Given the description of an element on the screen output the (x, y) to click on. 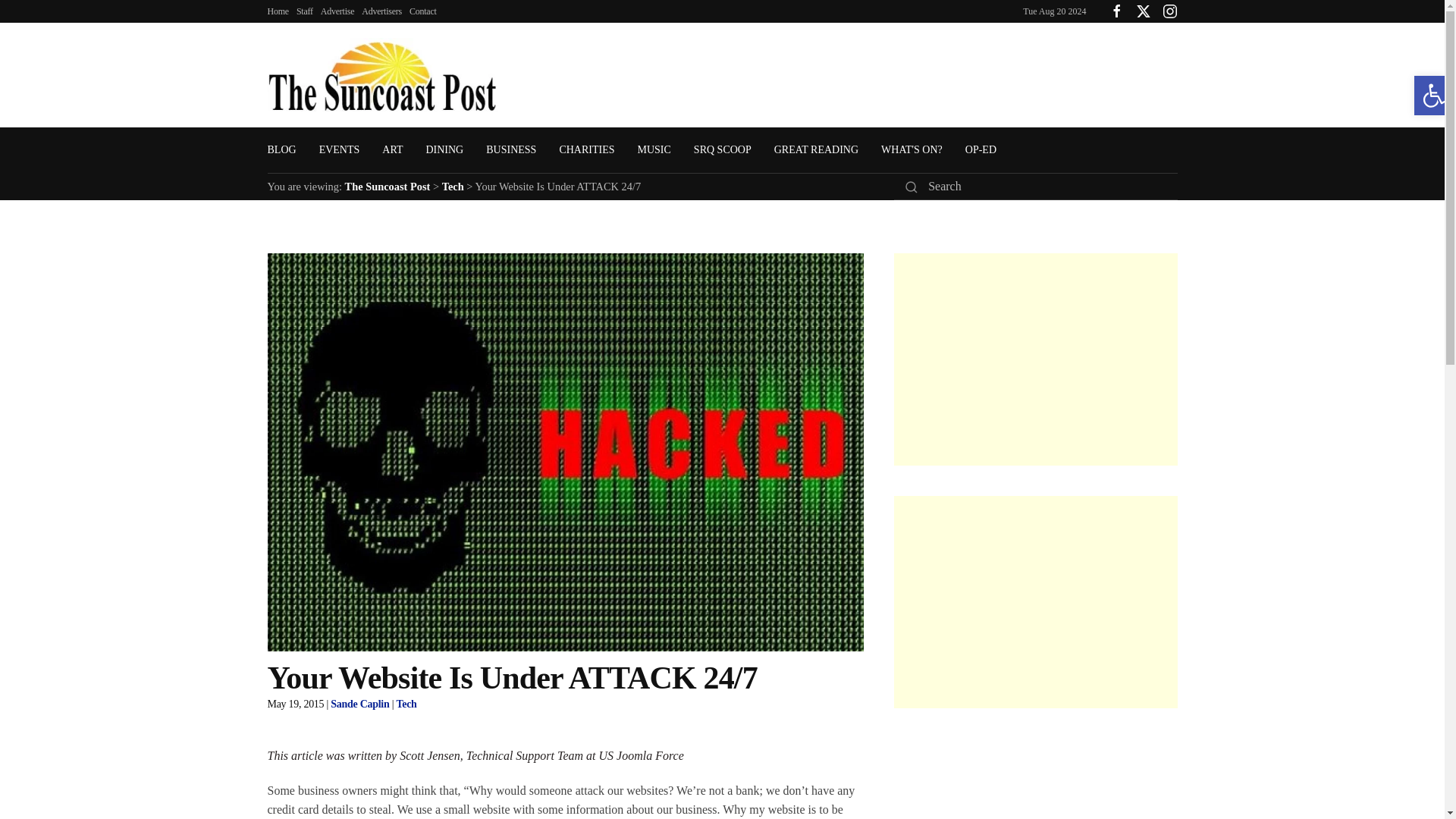
Staff (305, 11)
Advertise (337, 11)
Advertisers (381, 11)
Advertisement (1034, 602)
Visit us on Instagram (1168, 9)
EVENTS (338, 150)
BLOG (280, 150)
Home (277, 11)
Contact (422, 11)
Go to the Tech category archives. (453, 186)
